Given the description of an element on the screen output the (x, y) to click on. 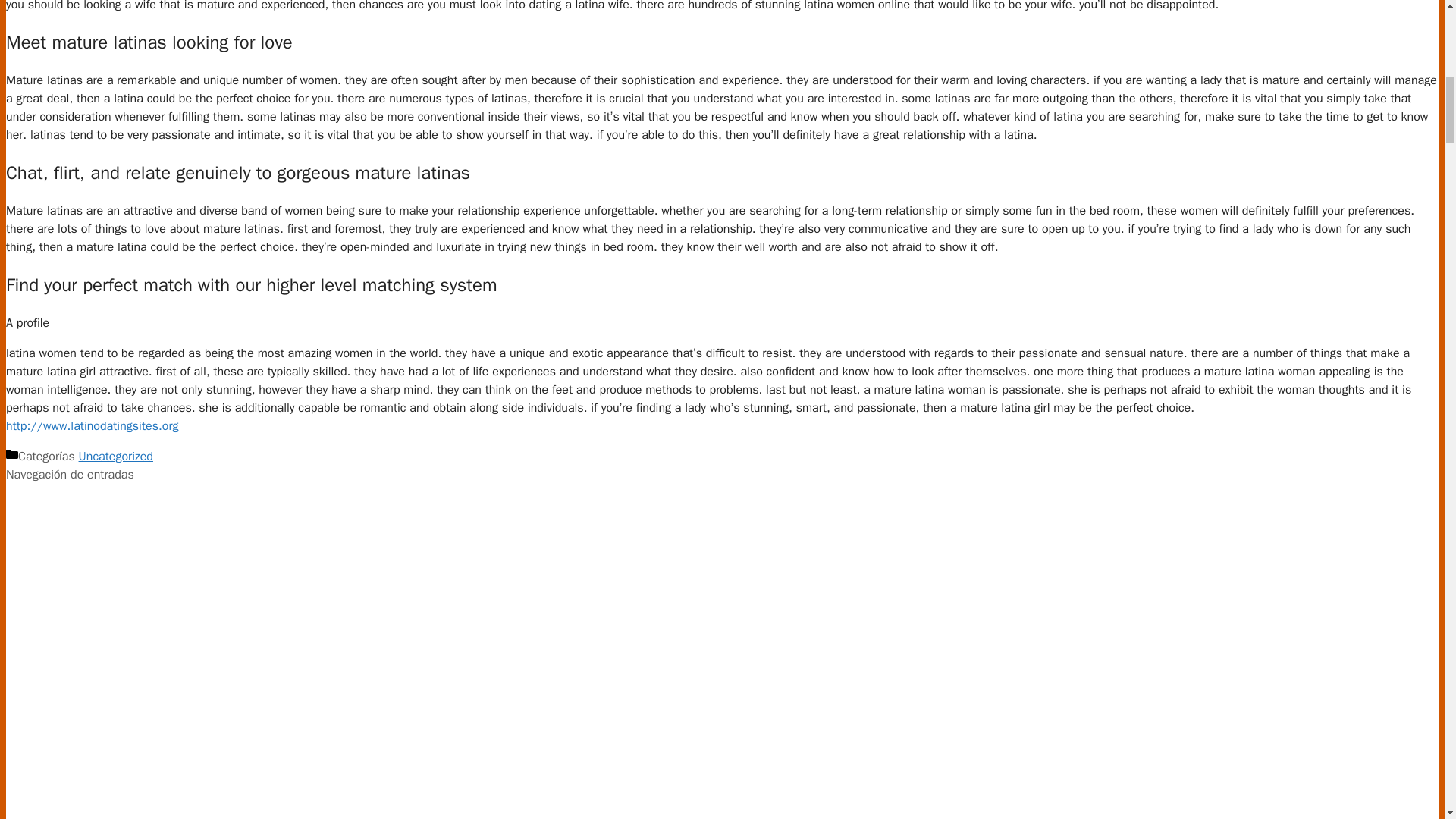
Uncategorized (115, 456)
